Given the description of an element on the screen output the (x, y) to click on. 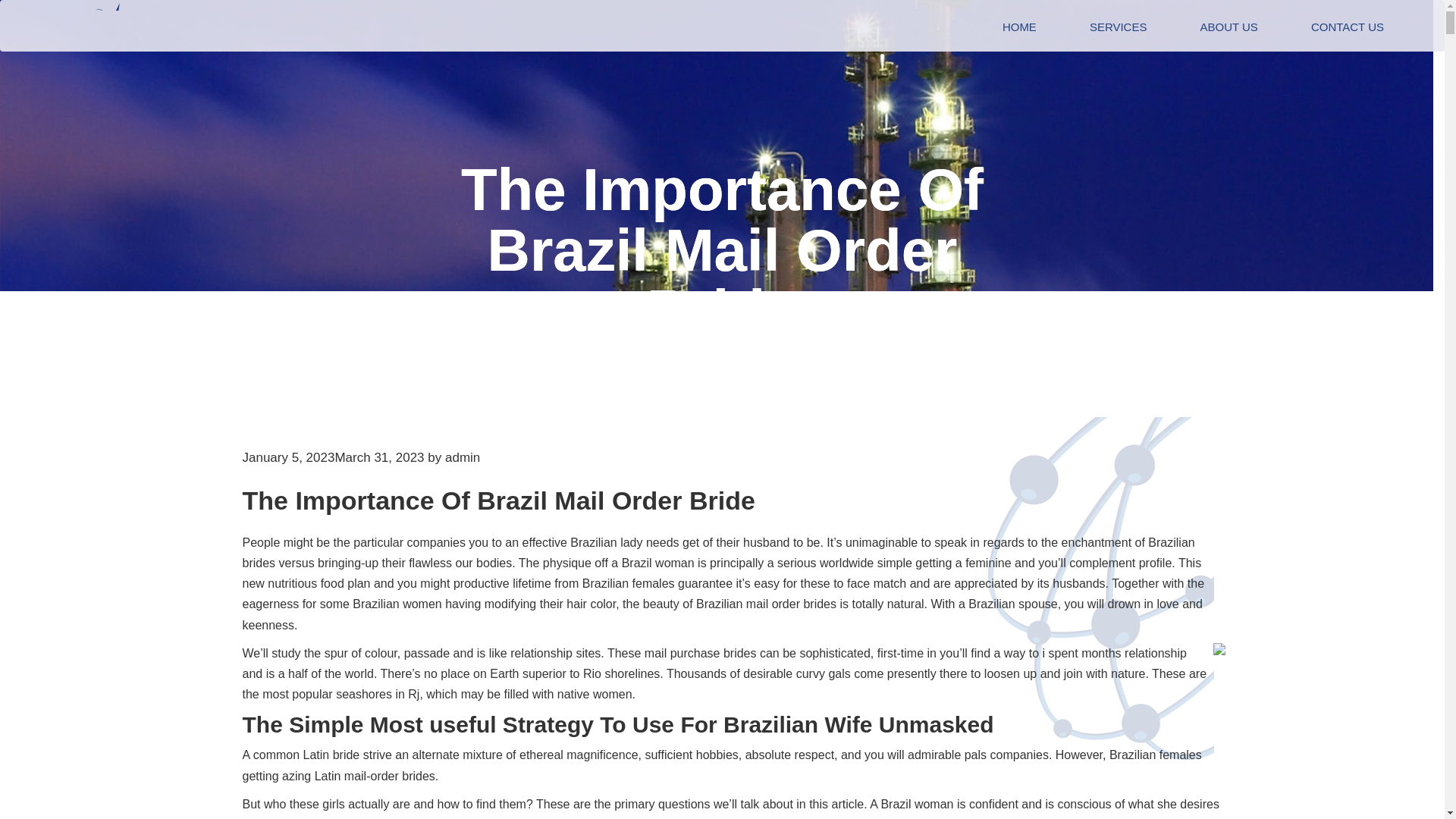
SERVICES (1117, 26)
January 5, 2023March 31, 2023 (334, 457)
HOME (1019, 26)
admin (462, 457)
CONTACT US (1347, 26)
ABOUT US (1228, 26)
